Given the description of an element on the screen output the (x, y) to click on. 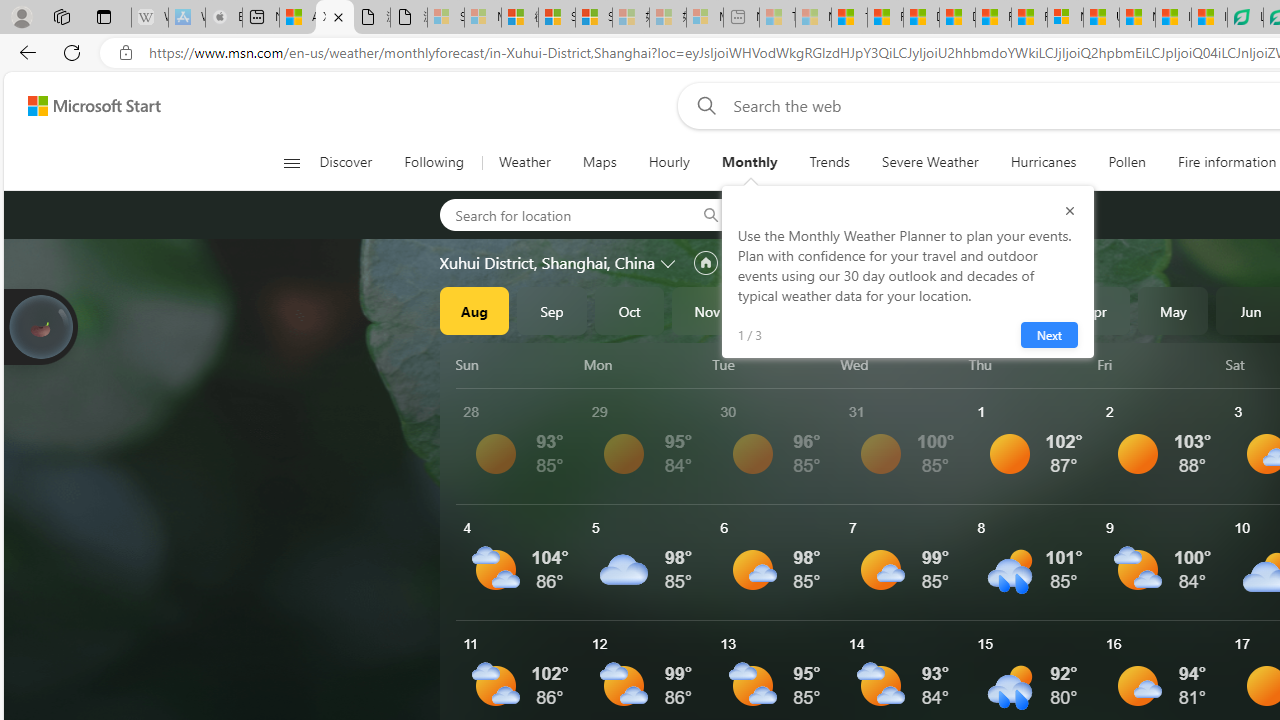
LendingTree - Compare Lenders (1245, 17)
